Given the description of an element on the screen output the (x, y) to click on. 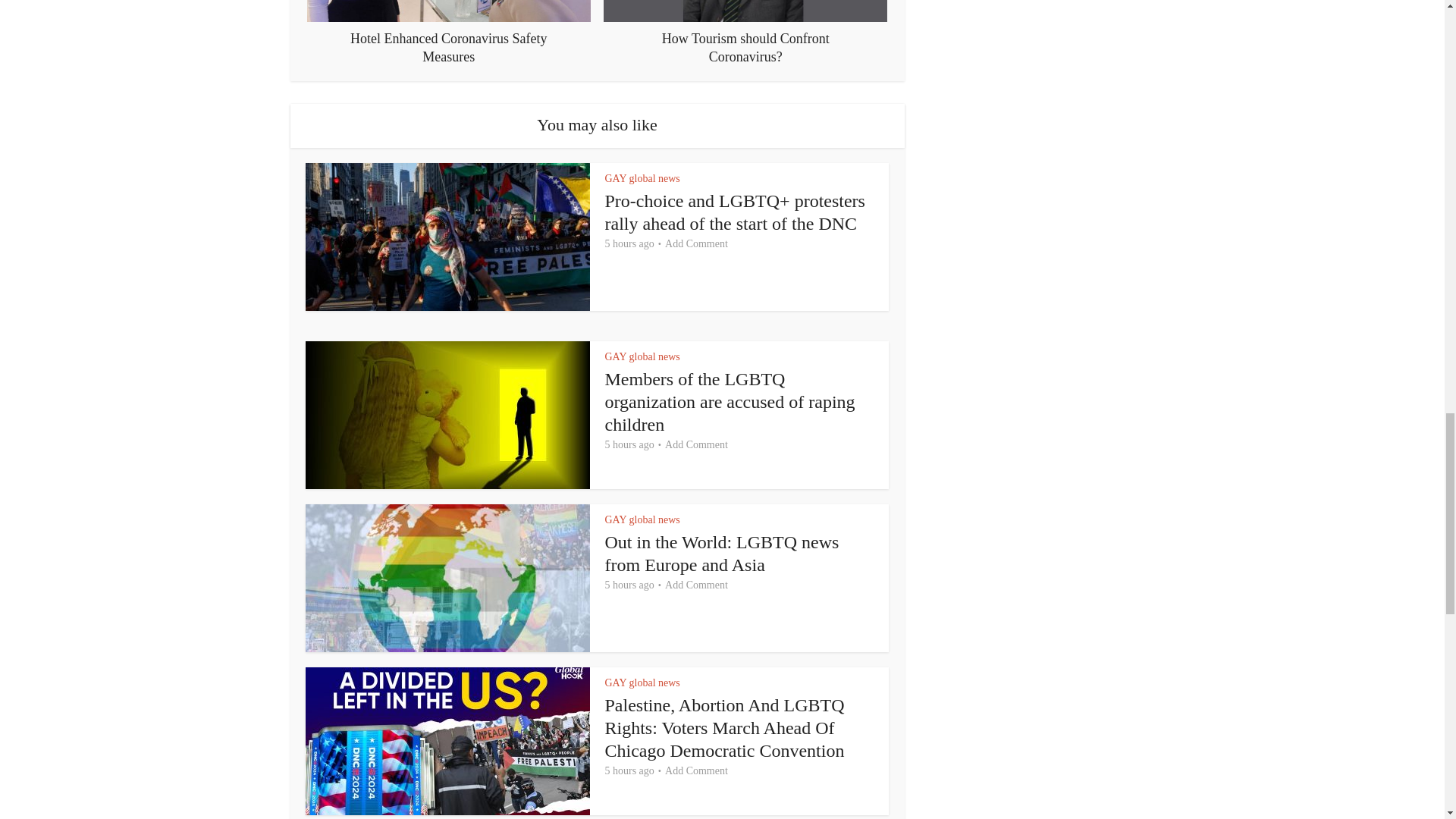
Out in the World: LGBTQ news from Europe and Asia (722, 553)
Hotel Enhanced Coronavirus Safety Measures (449, 33)
